Given the description of an element on the screen output the (x, y) to click on. 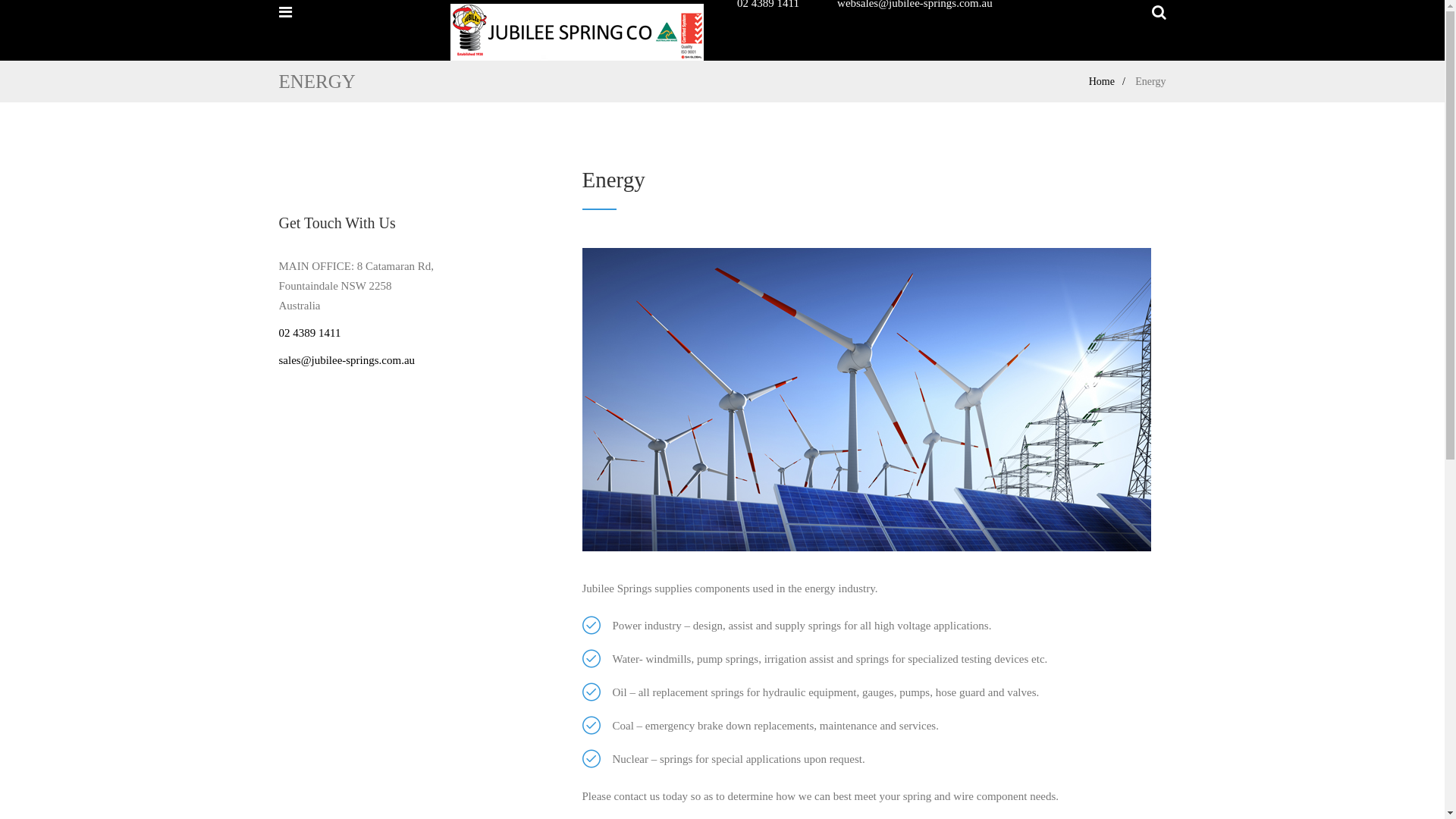
sales@jubilee-springs.com.au Element type: text (347, 360)
Jubilee Spring CO Element type: hover (576, 34)
02 4389 1411 Element type: text (310, 332)
Home Element type: text (1110, 81)
Jubilee Spring CO Element type: hover (576, 34)
